Given the description of an element on the screen output the (x, y) to click on. 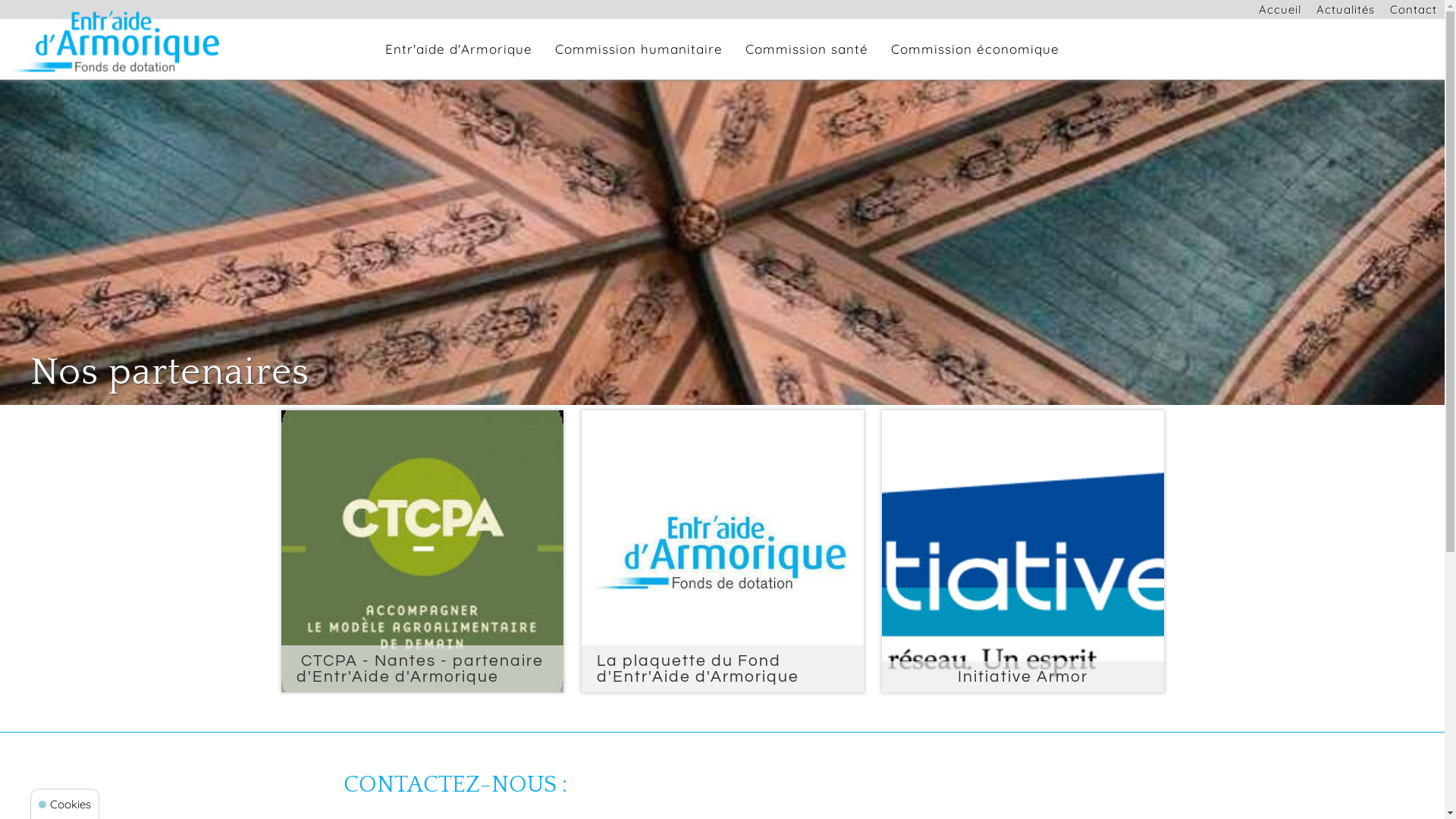
Accueil Element type: text (1279, 9)
La plaquette du Fond d'Entr'Aide d'Armorique Element type: text (721, 551)
Commission humanitaire Element type: text (638, 49)
Contact Element type: text (1413, 9)
 CTCPA - Nantes - partenaire d'Entr'Aide d'Armorique Element type: text (421, 551)
La plaquette du Fond d''Entr''Aide d''Armorique Element type: hover (721, 551)
Initiative Armor Element type: text (1022, 551)
Initiative Armor Element type: hover (1022, 551)
